Given the description of an element on the screen output the (x, y) to click on. 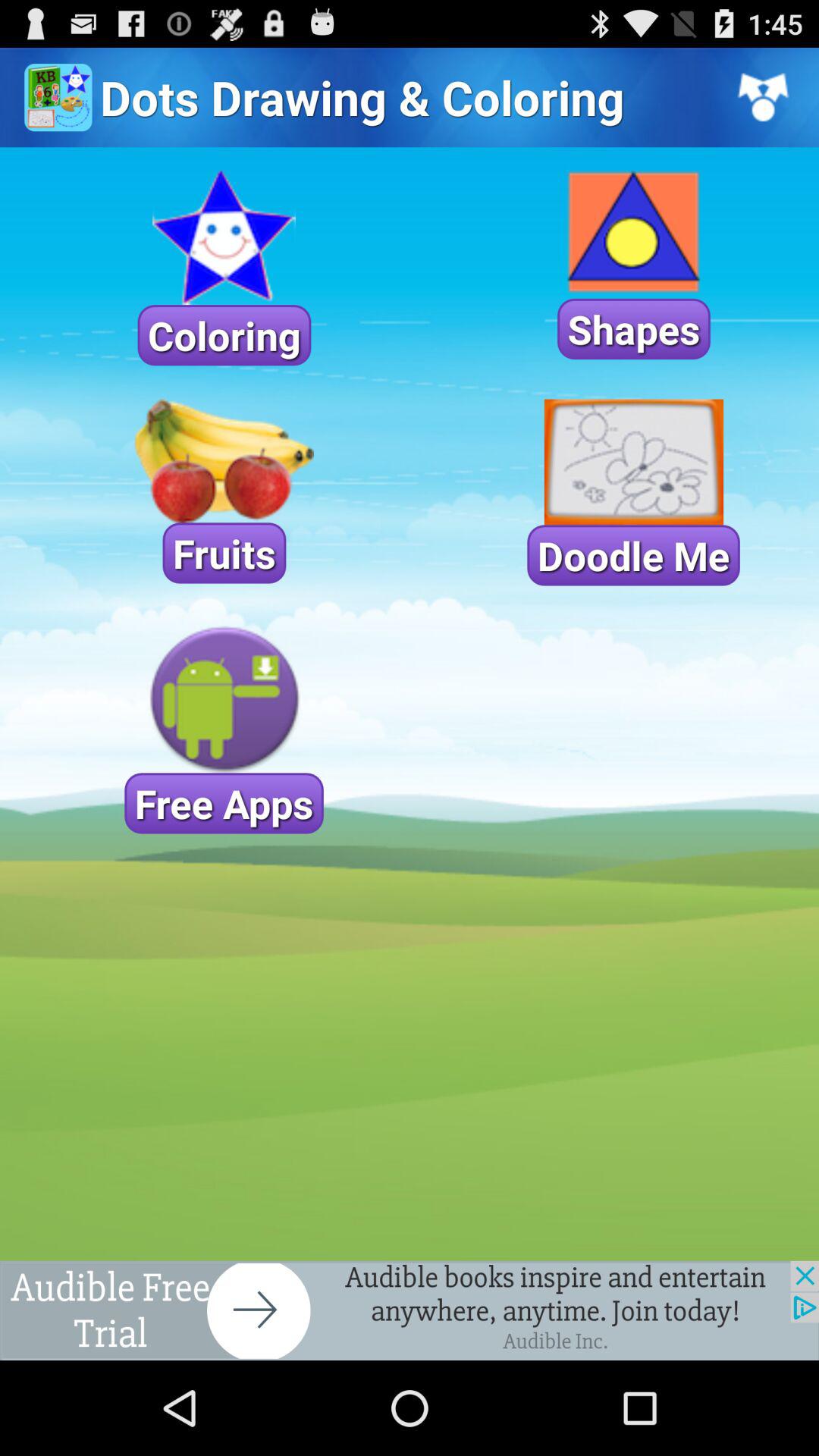
advertisement adding button (409, 1310)
